Given the description of an element on the screen output the (x, y) to click on. 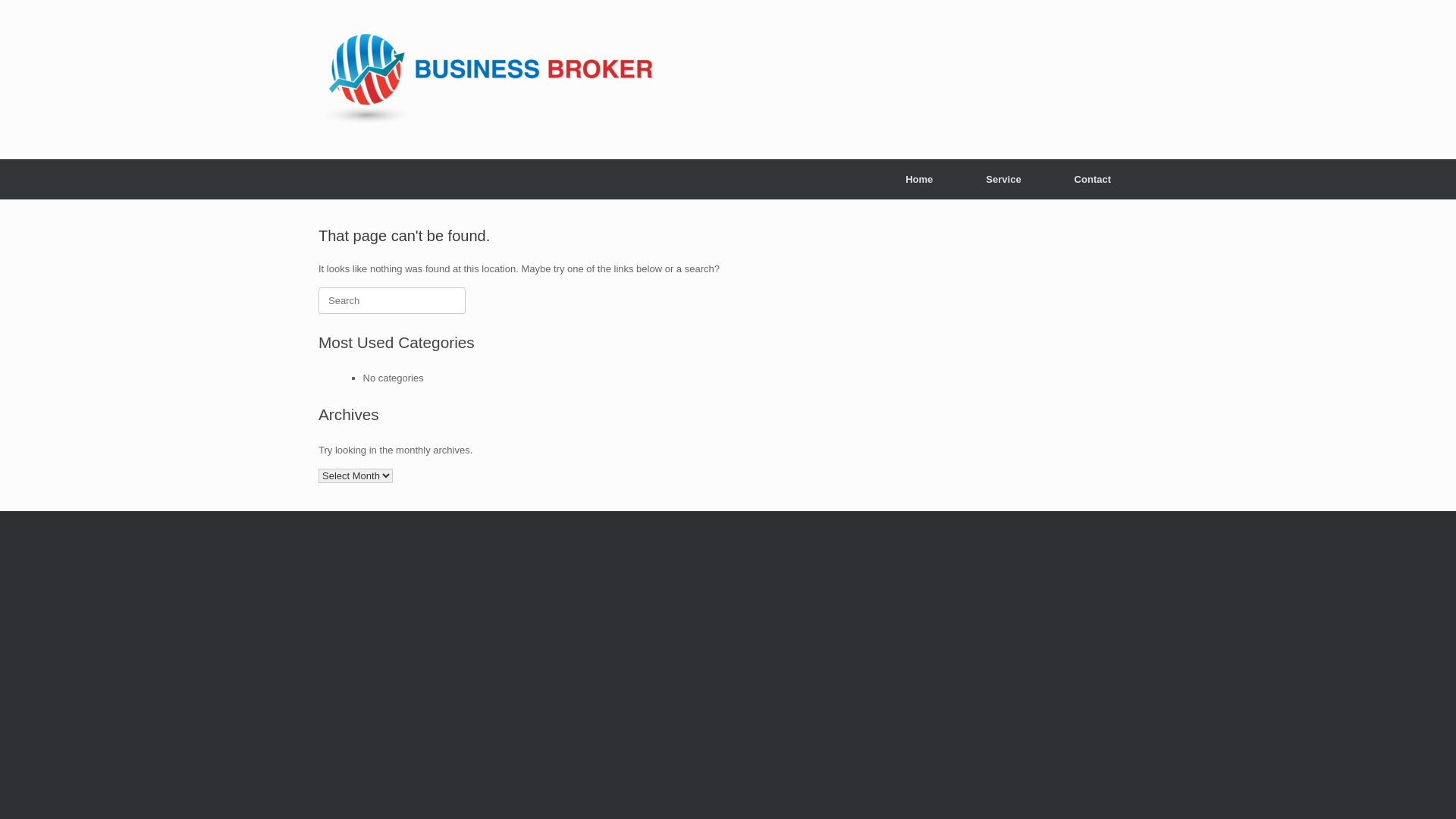
Service Element type: text (1003, 179)
Contact Element type: text (1092, 179)
Business Broker Element type: hover (486, 79)
Home Element type: text (918, 179)
